Given the description of an element on the screen output the (x, y) to click on. 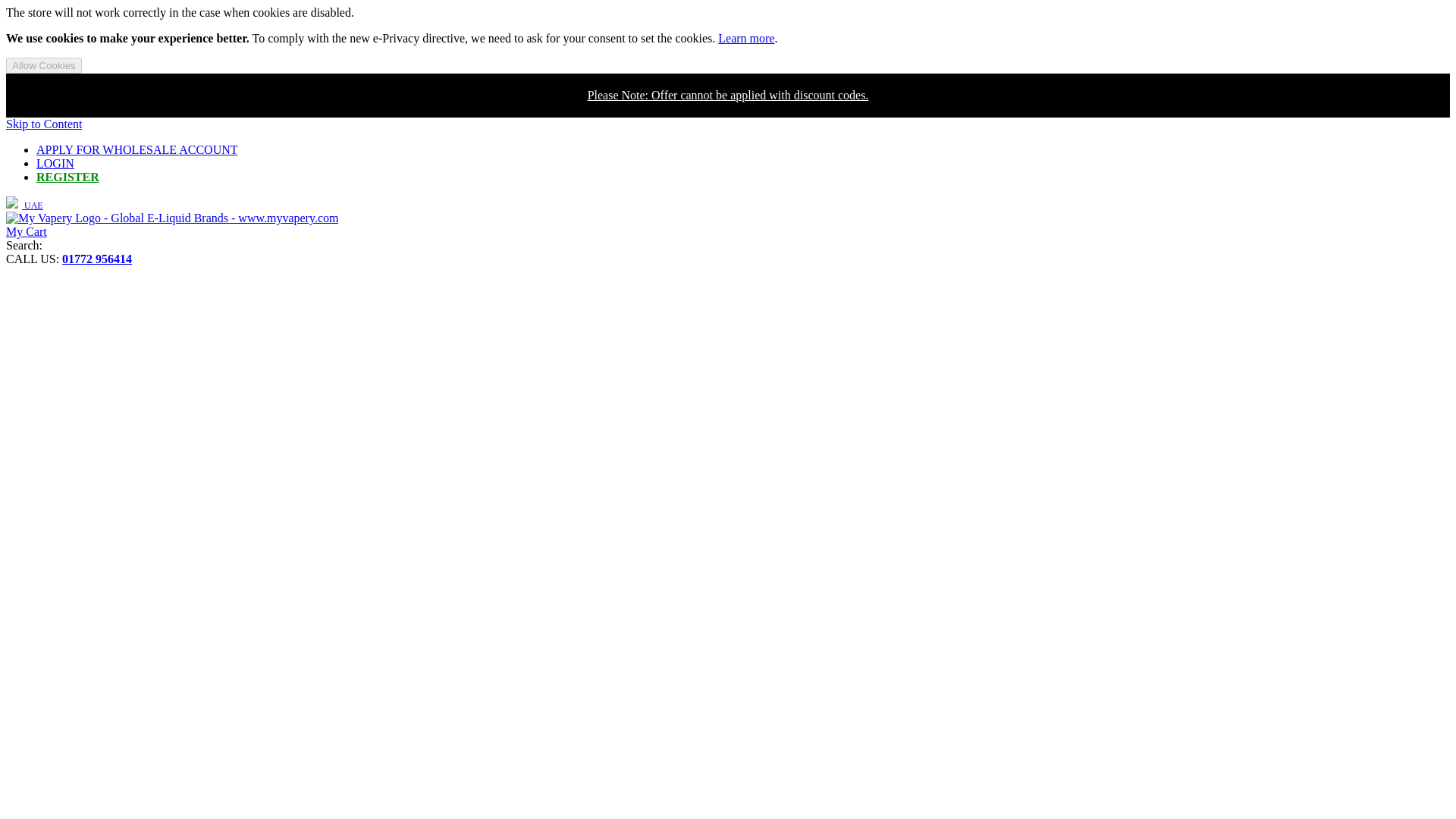
UAE (24, 204)
REGISTER (67, 176)
Please Note: Offer cannot be applied with discount codes. (728, 94)
My Cart (25, 231)
My Vapery Logo - Global E-Liquid Brands - www.myvapery.com (171, 218)
APPLY FOR WHOLESALE ACCOUNT (137, 149)
My Vapery Logo - Global E-Liquid Brands - www.myvapery.com (171, 217)
LOGIN (55, 163)
Allow Cookies (43, 65)
Skip to Content (43, 123)
